Given the description of an element on the screen output the (x, y) to click on. 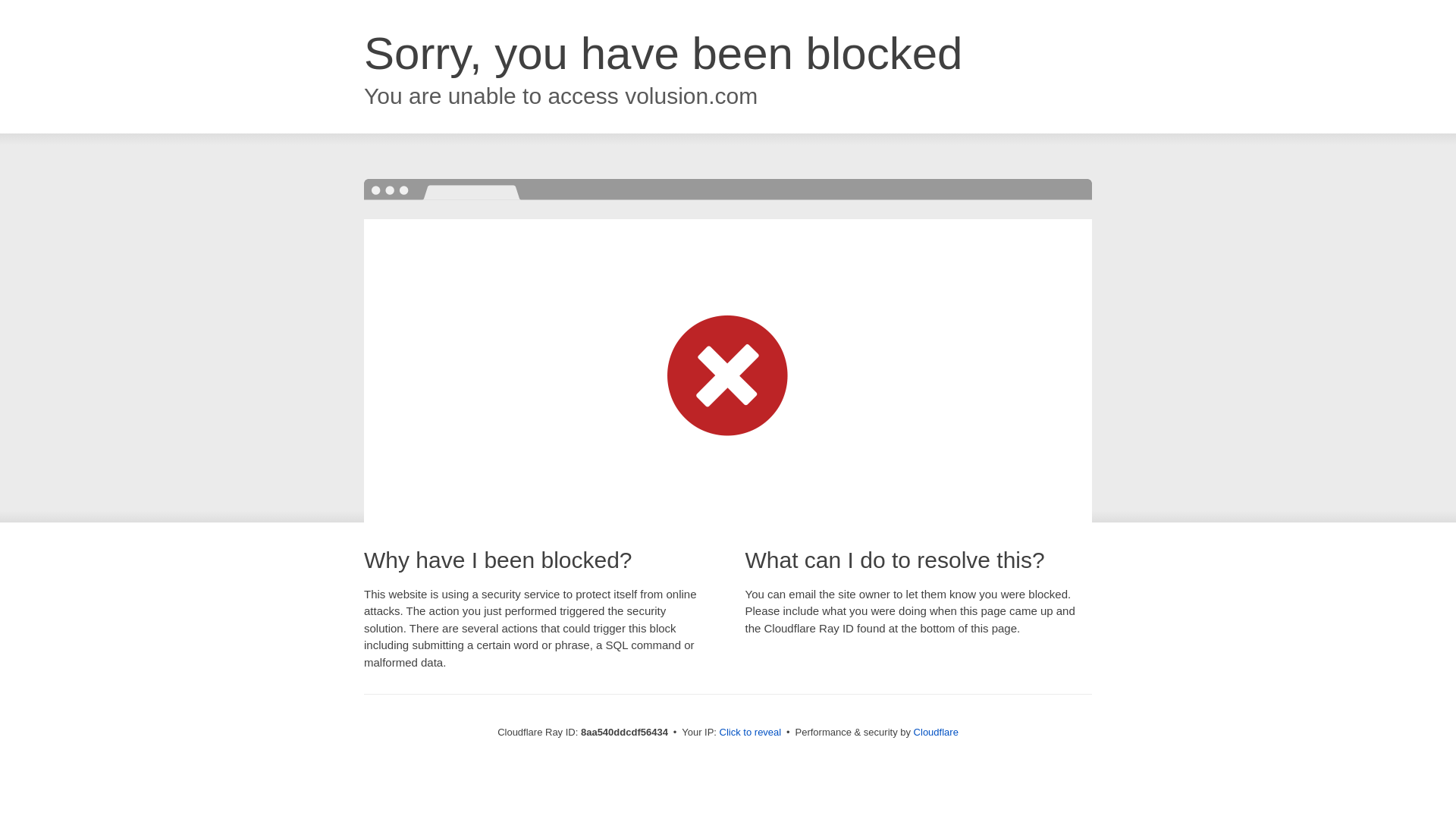
Cloudflare (936, 731)
Click to reveal (750, 732)
